Given the description of an element on the screen output the (x, y) to click on. 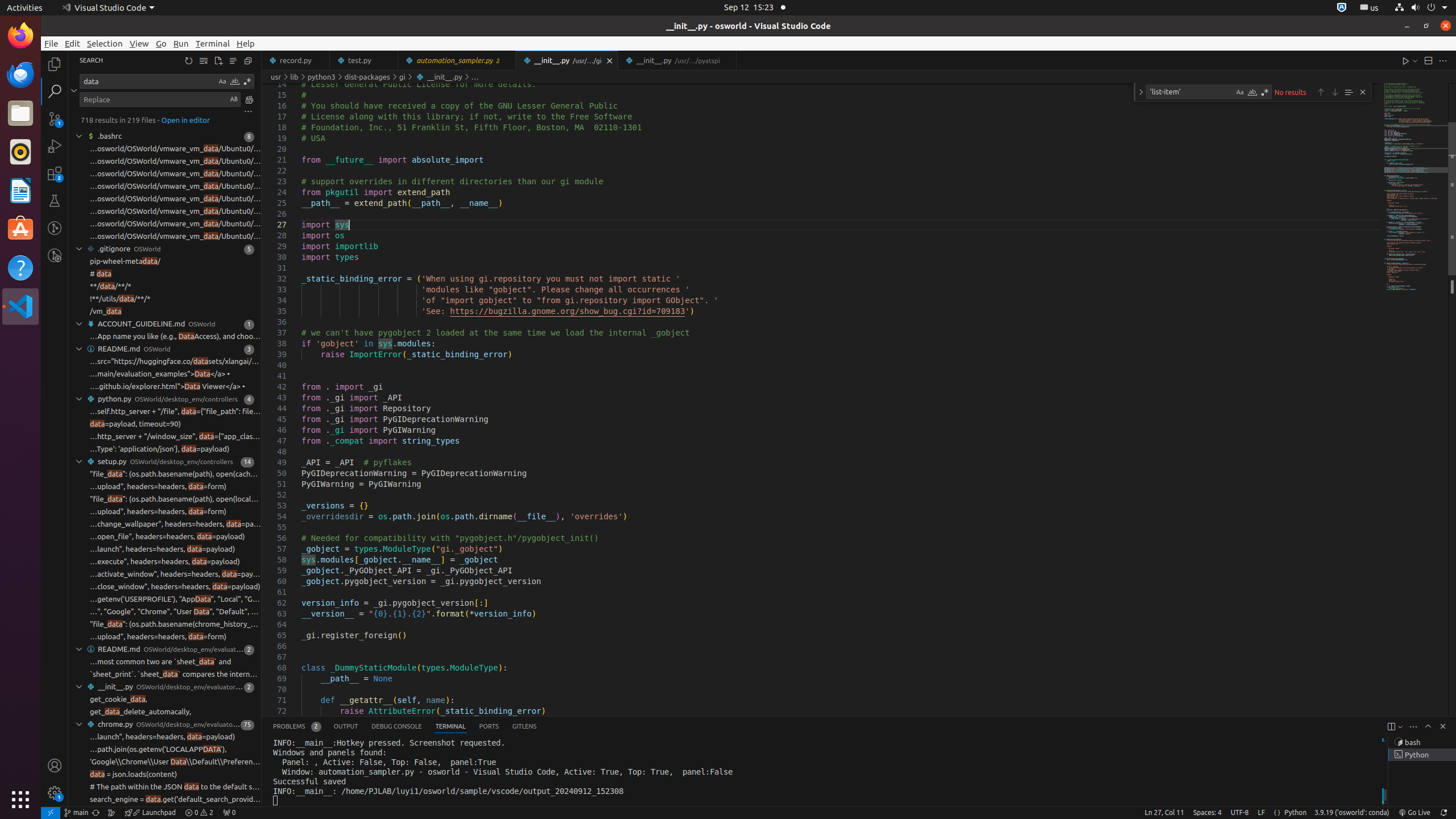
Spaces: 4 Element type: push-button (1206, 812)
More Actions... Element type: push-button (1442, 60)
…osworld/OSWorld/vmware_vm_data/Ubuntu0/Ubuntu0.vmx /home/user/vm.log vm.log Element type: link (175, 210)
Toggle Replace Element type: push-button (1140, 92)
data=payload, timeout=90) Element type: link (134, 423)
